Given the description of an element on the screen output the (x, y) to click on. 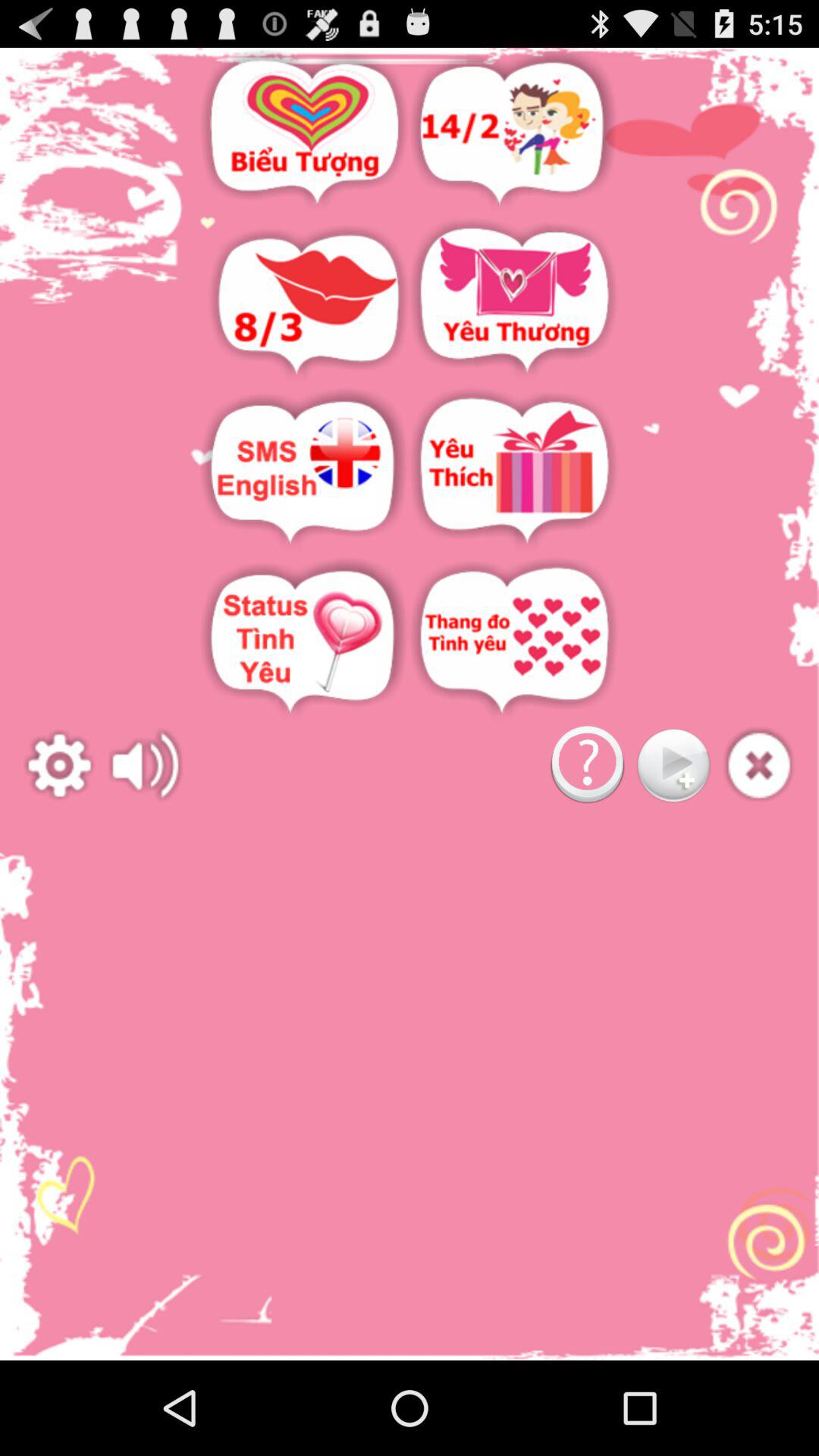
go to question button (587, 765)
